Given the description of an element on the screen output the (x, y) to click on. 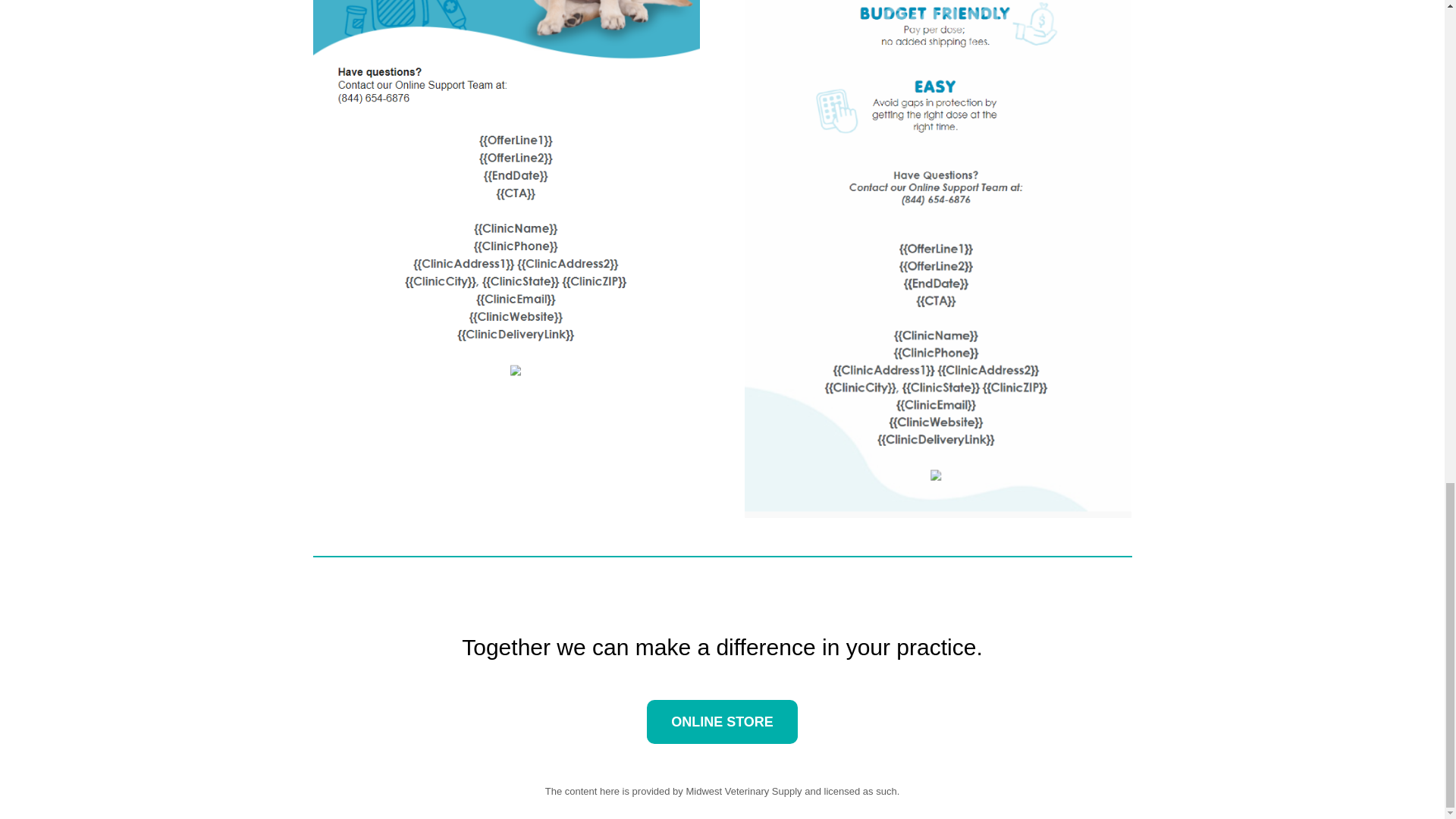
ONLINE STORE (721, 722)
